Given the description of an element on the screen output the (x, y) to click on. 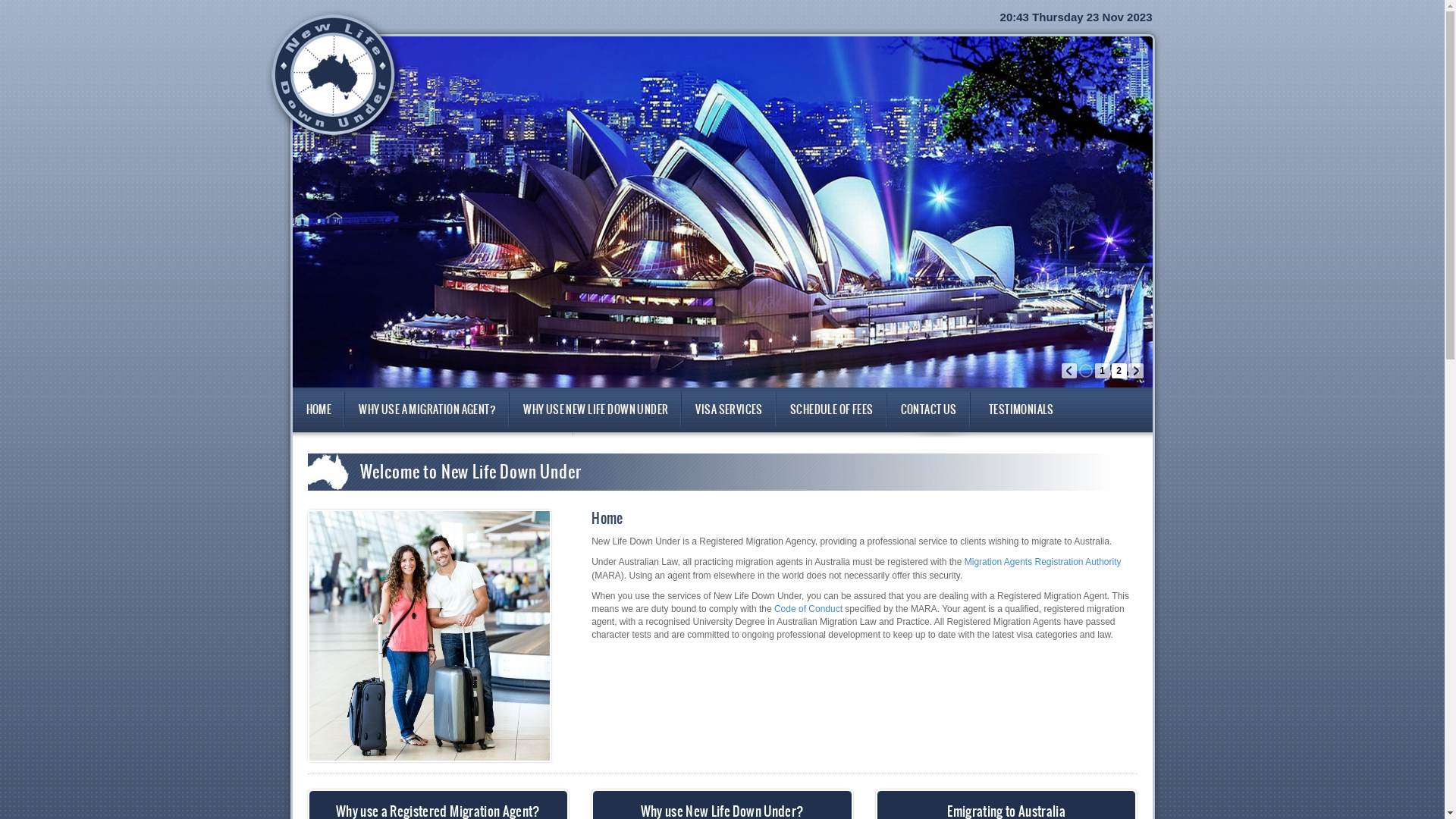
HOME Element type: text (318, 409)
WHY USE NEW LIFE DOWN UNDER Element type: text (595, 409)
Code of Conduct Element type: text (808, 608)
WHY USE A MIGRATION AGENT? Element type: text (427, 409)
SCHEDULE OF FEES Element type: text (831, 409)
CONTACT US Element type: text (928, 409)
Migration Agents Registration Authority Element type: text (1042, 561)
TESTIMONIALS Element type: text (1021, 409)
VISA SERVICES Element type: text (728, 409)
